Given the description of an element on the screen output the (x, y) to click on. 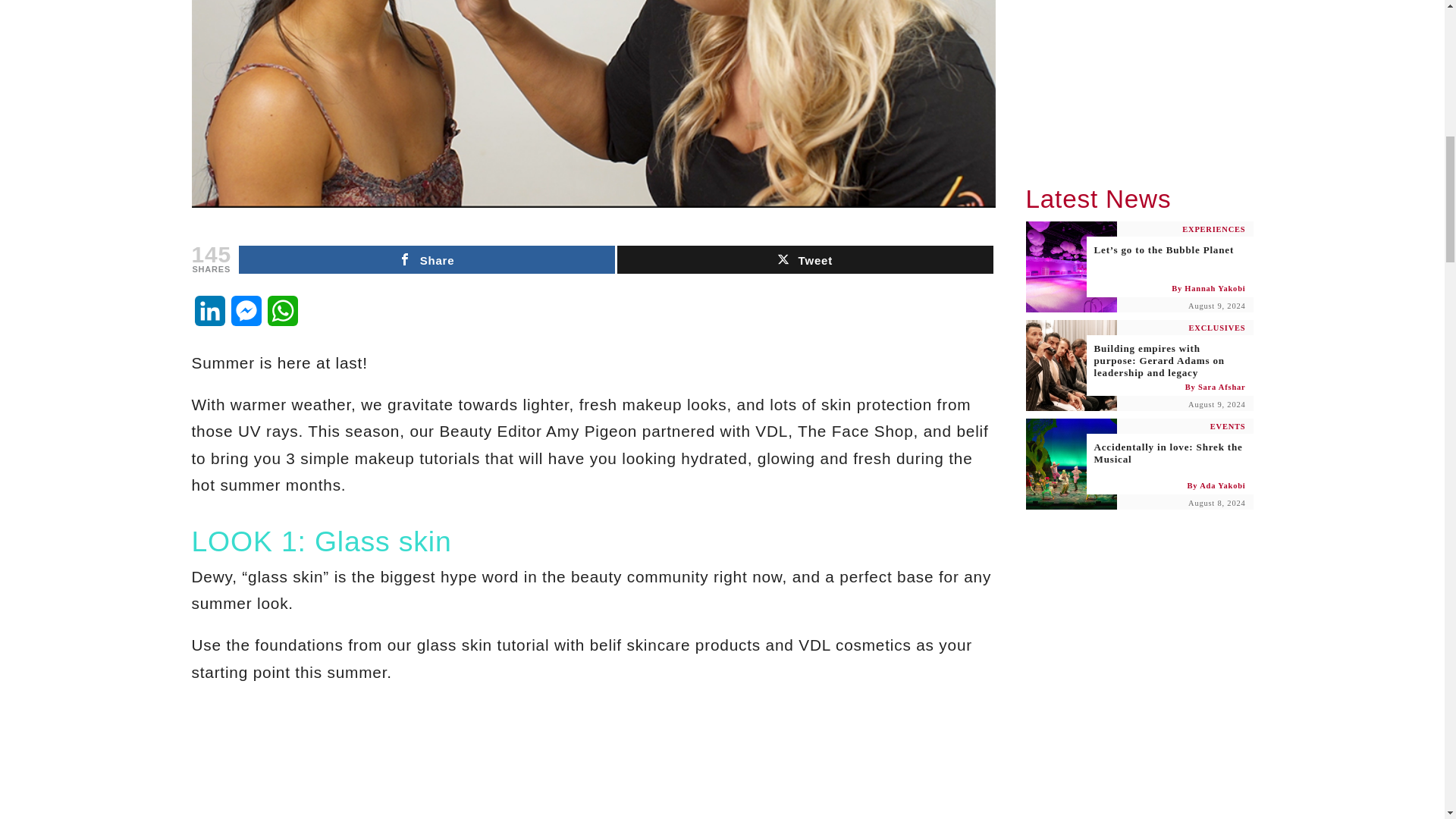
Share (426, 259)
Accidentally in love: Shrek the Musical (1138, 463)
Tweet (804, 259)
Advertisement (1138, 75)
